Given the description of an element on the screen output the (x, y) to click on. 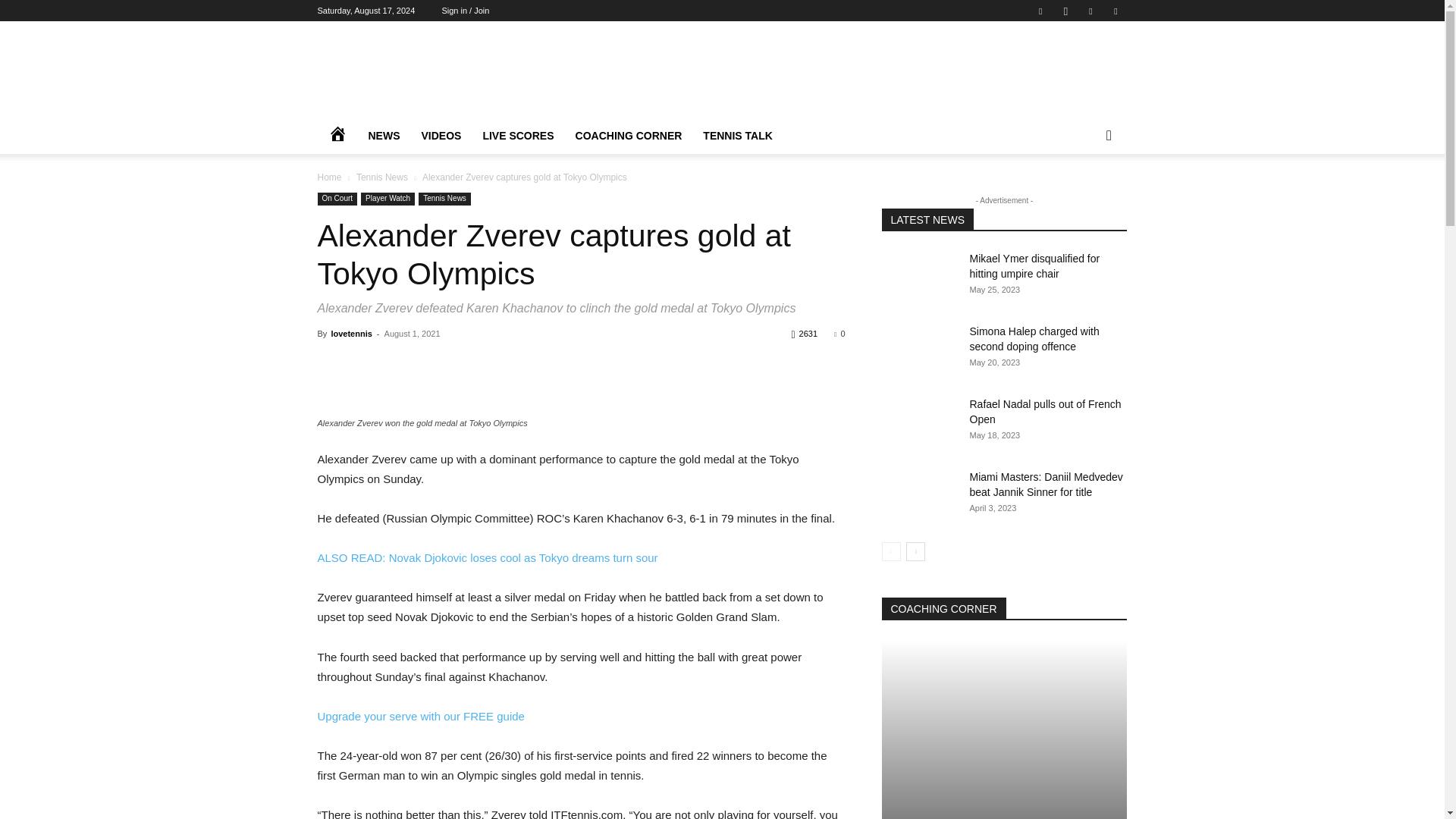
Facebook (1040, 10)
VIDEOS (440, 135)
Youtube (1114, 10)
HOME (336, 135)
Instagram (1065, 10)
Twitter (1090, 10)
NEWS (384, 135)
